Given the description of an element on the screen output the (x, y) to click on. 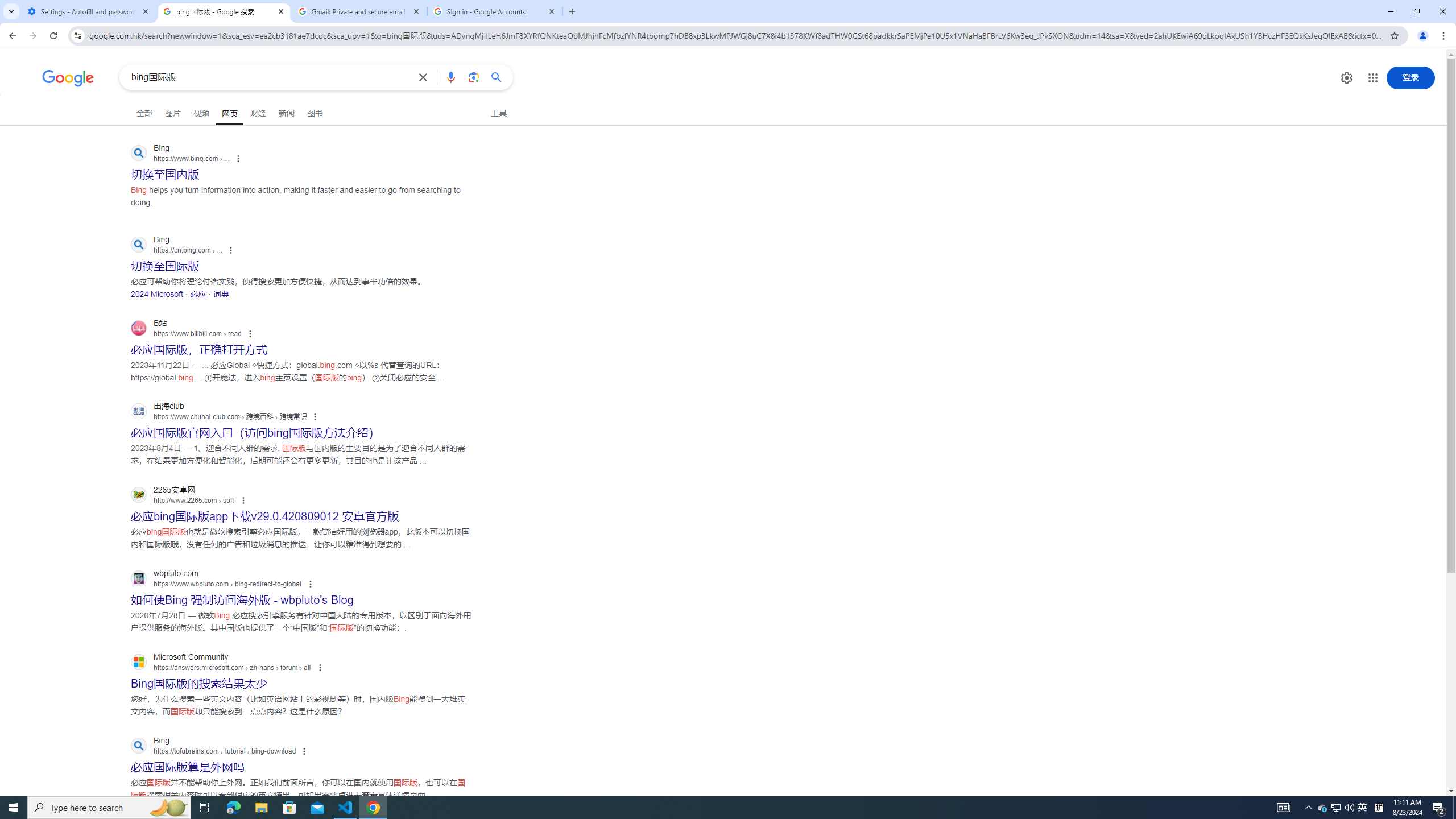
System (6, 6)
Restore (1416, 11)
Google (68, 78)
